Given the description of an element on the screen output the (x, y) to click on. 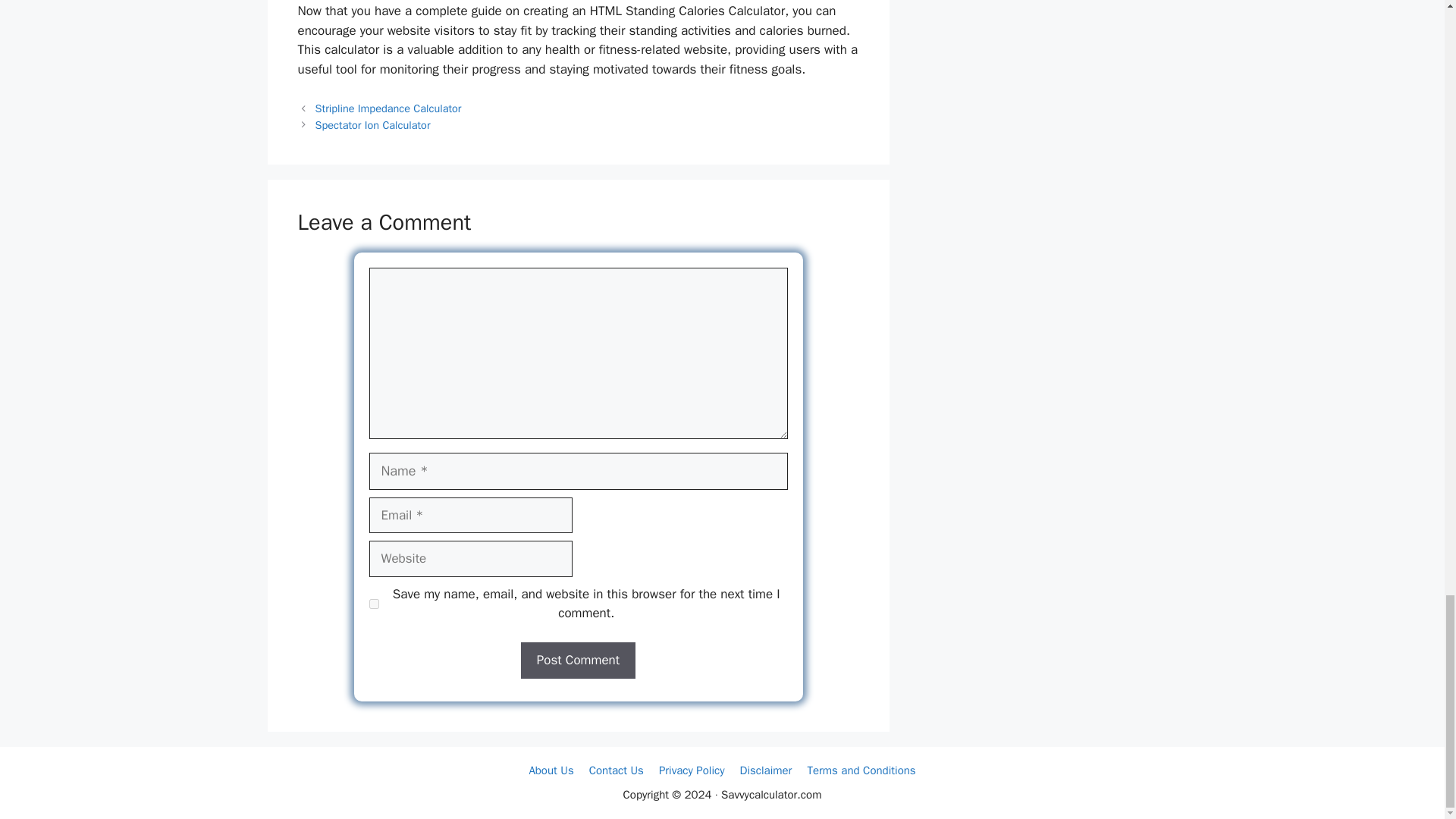
Terms and Conditions (860, 770)
Stripline Impedance Calculator (388, 108)
Spectator Ion Calculator (372, 124)
Contact Us (616, 770)
yes (373, 603)
Post Comment (577, 660)
Privacy Policy (692, 770)
Disclaimer (765, 770)
About Us (550, 770)
Post Comment (577, 660)
